Given the description of an element on the screen output the (x, y) to click on. 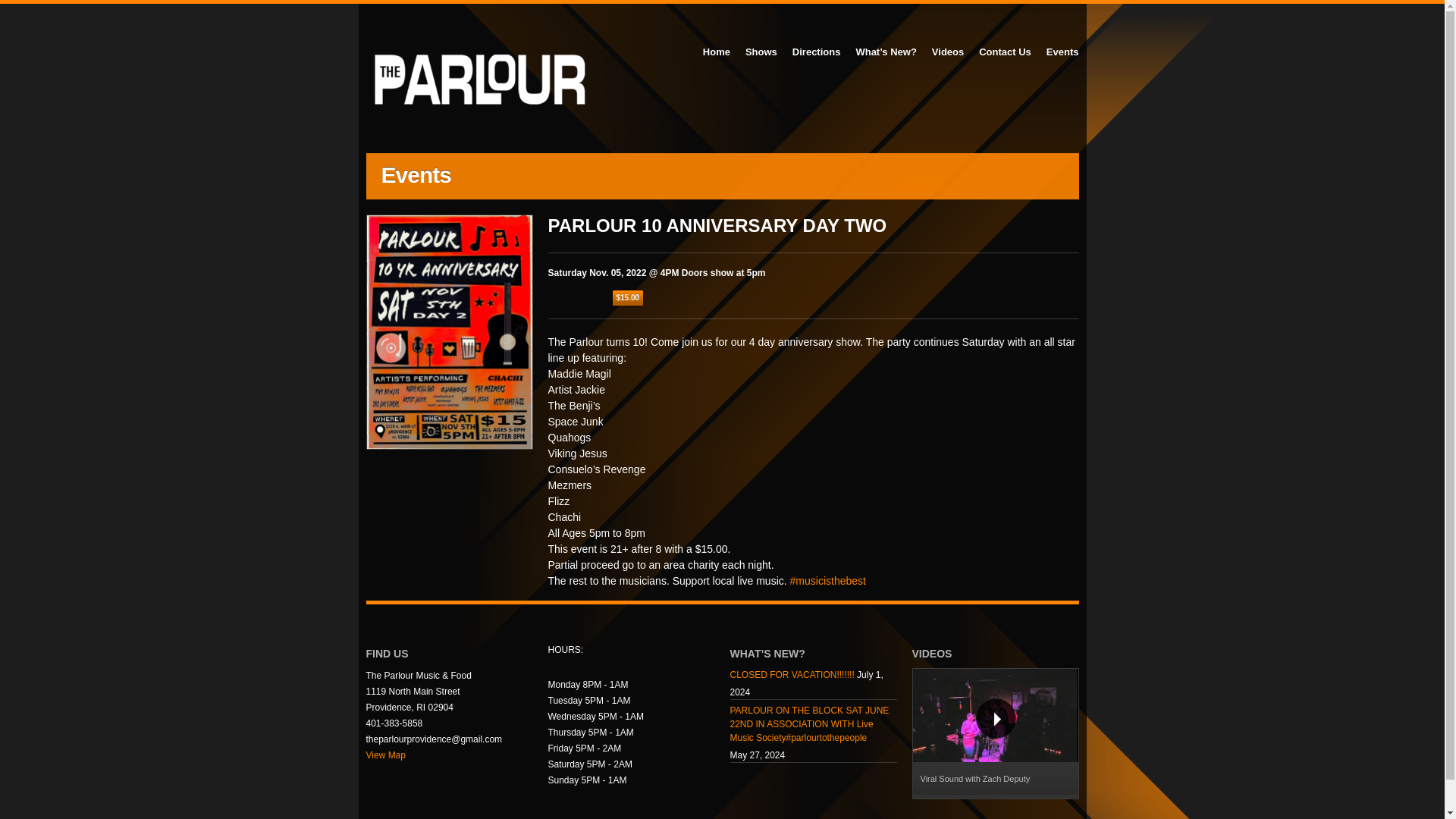
Events (1062, 51)
Directions (816, 51)
Shows (761, 51)
Videos (947, 51)
Home (716, 51)
View Map (384, 755)
CLOSED FOR VACATION!!!!!!! (791, 676)
Contact Us (1005, 51)
